Given the description of an element on the screen output the (x, y) to click on. 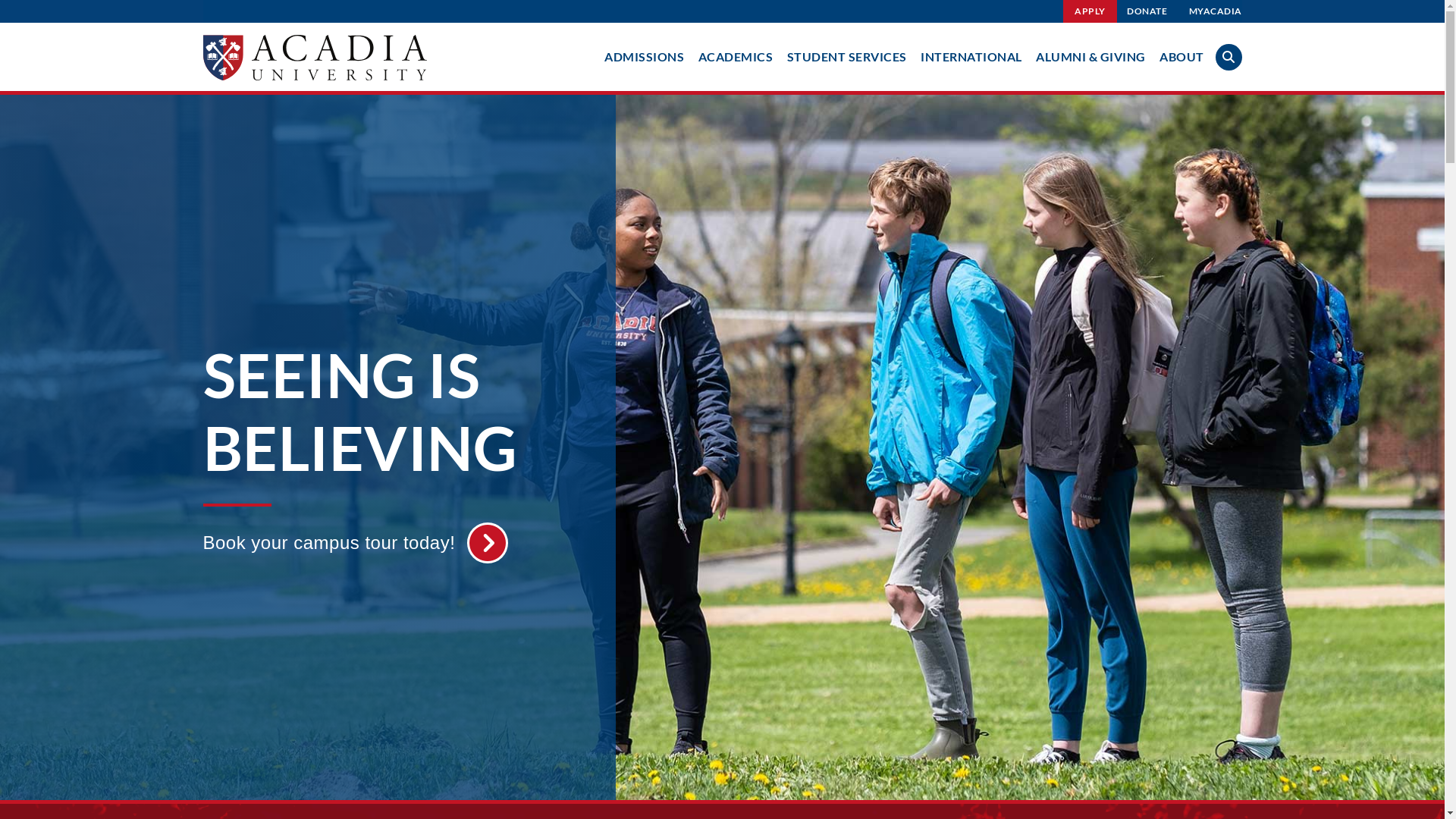
APPLY Element type: text (1090, 11)
INTERNATIONAL Element type: text (971, 56)
MYACADIA Element type: text (1214, 11)
SEEING IS BELIEVING
Book your campus tour today! Element type: text (387, 444)
ALUMNI & GIVING Element type: text (1090, 56)
STUDENT SERVICES Element type: text (846, 56)
DONATE Element type: text (1146, 11)
ABOUT Element type: text (1181, 56)
ADMISSIONS Element type: text (644, 56)
ACADEMICS Element type: text (734, 56)
